Given the description of an element on the screen output the (x, y) to click on. 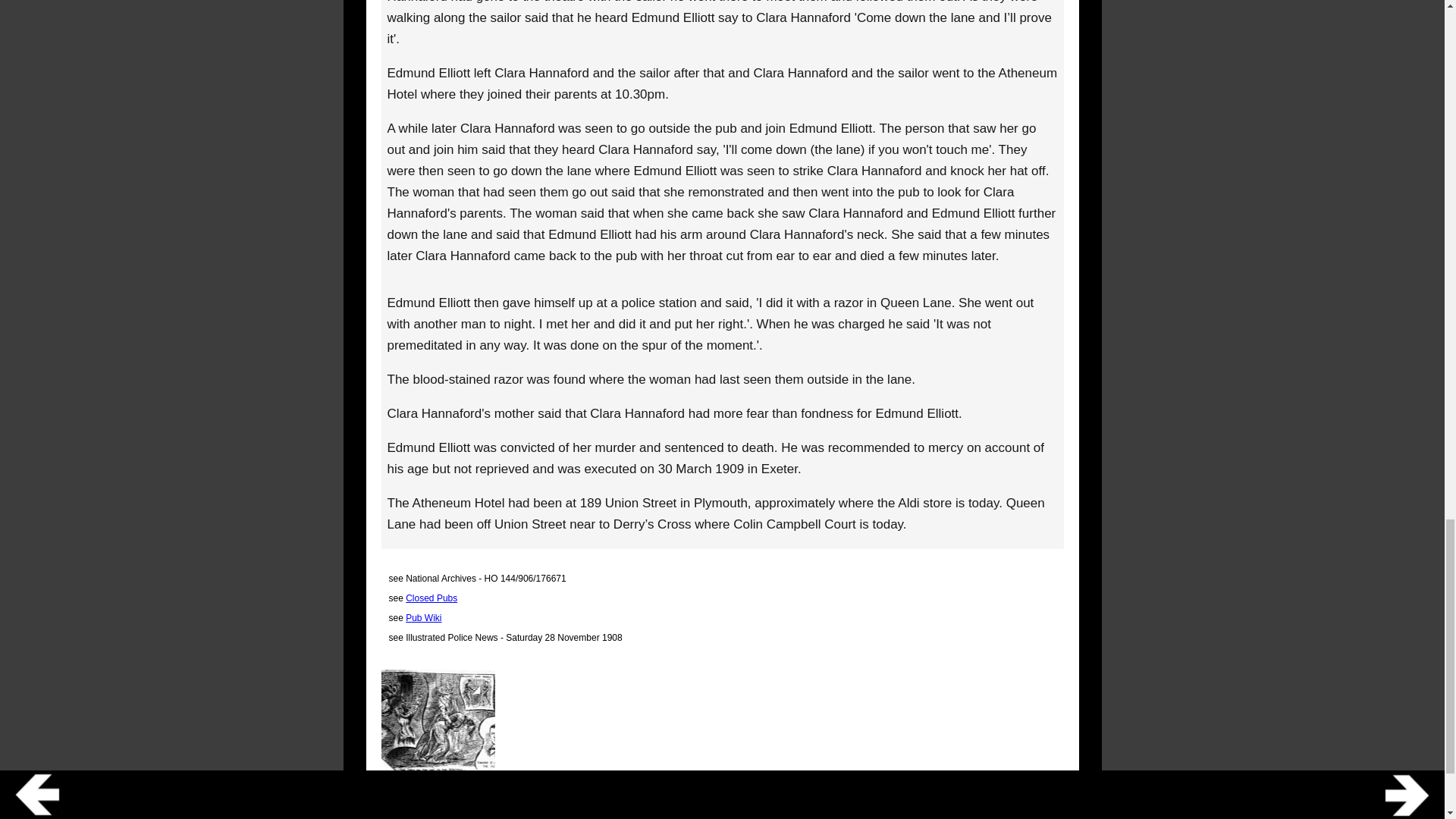
Closed Pubs (431, 597)
Pub Wiki (423, 617)
